Given the description of an element on the screen output the (x, y) to click on. 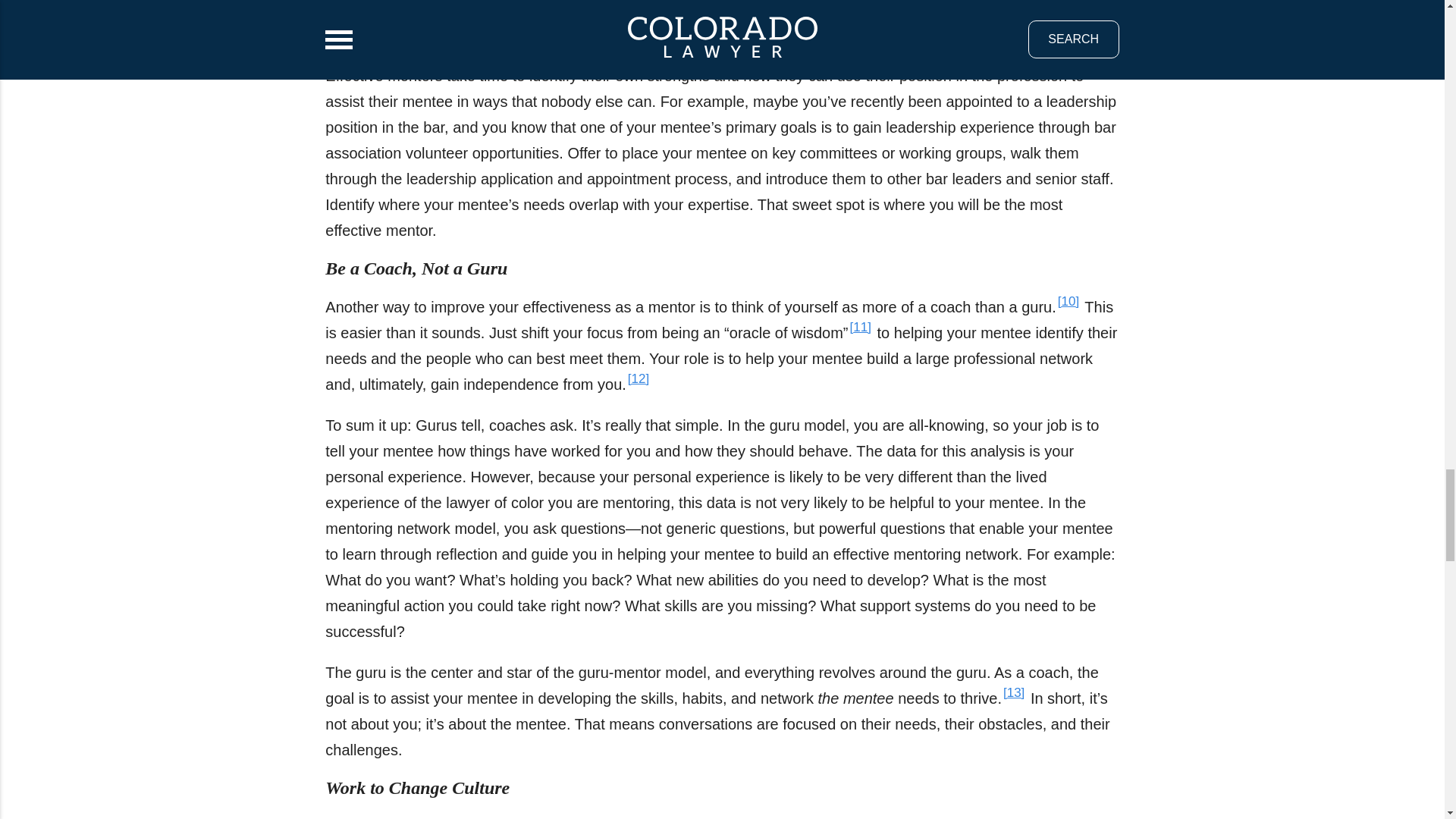
12 (638, 378)
13 (1013, 692)
10 (1068, 301)
11 (859, 327)
